Given the description of an element on the screen output the (x, y) to click on. 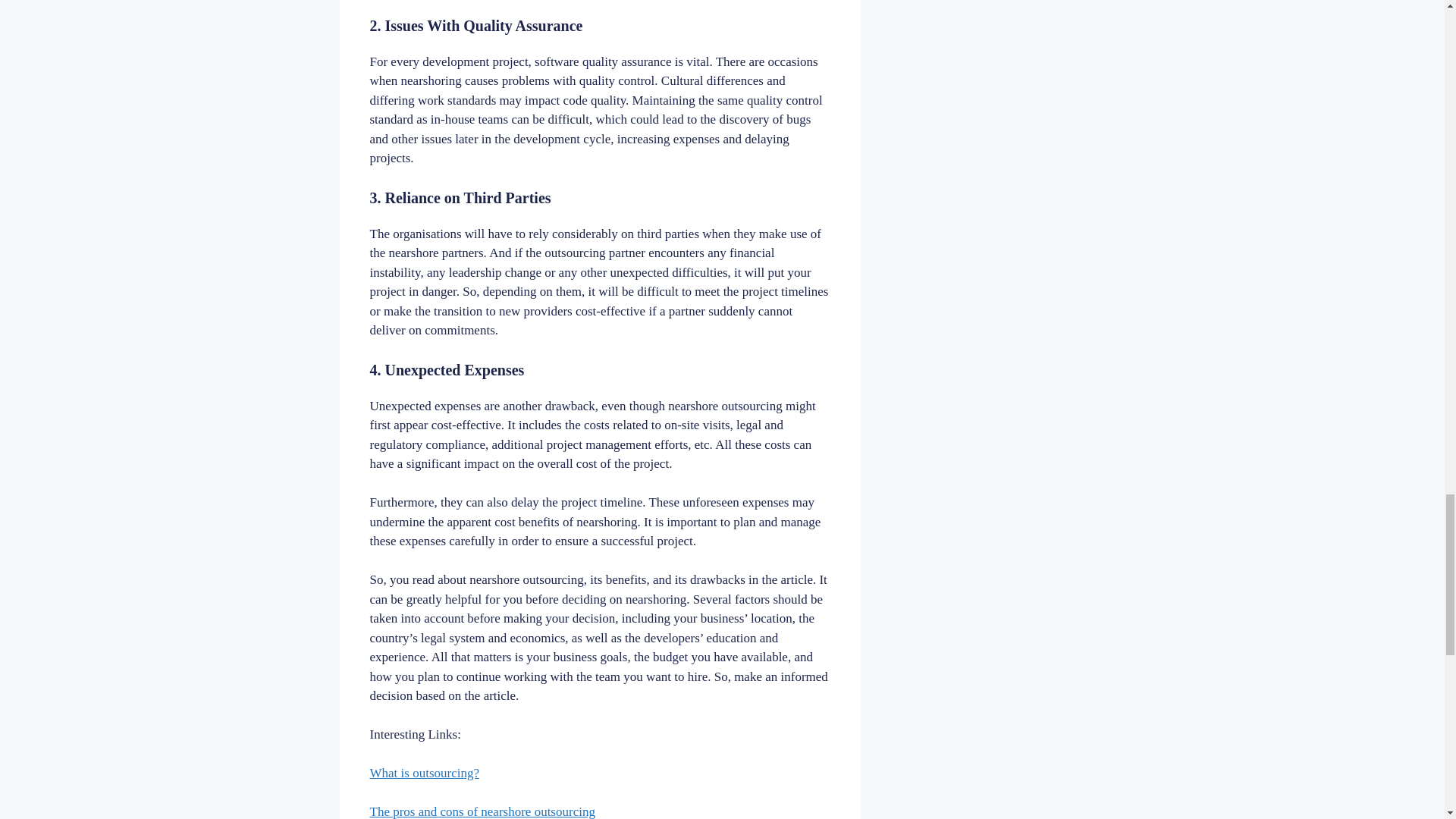
The pros and cons of nearshore outsourcing (482, 811)
What is outsourcing? (424, 772)
The pros and cons of nearshore outsourcing (482, 811)
What is outsourcing? (424, 772)
